Given the description of an element on the screen output the (x, y) to click on. 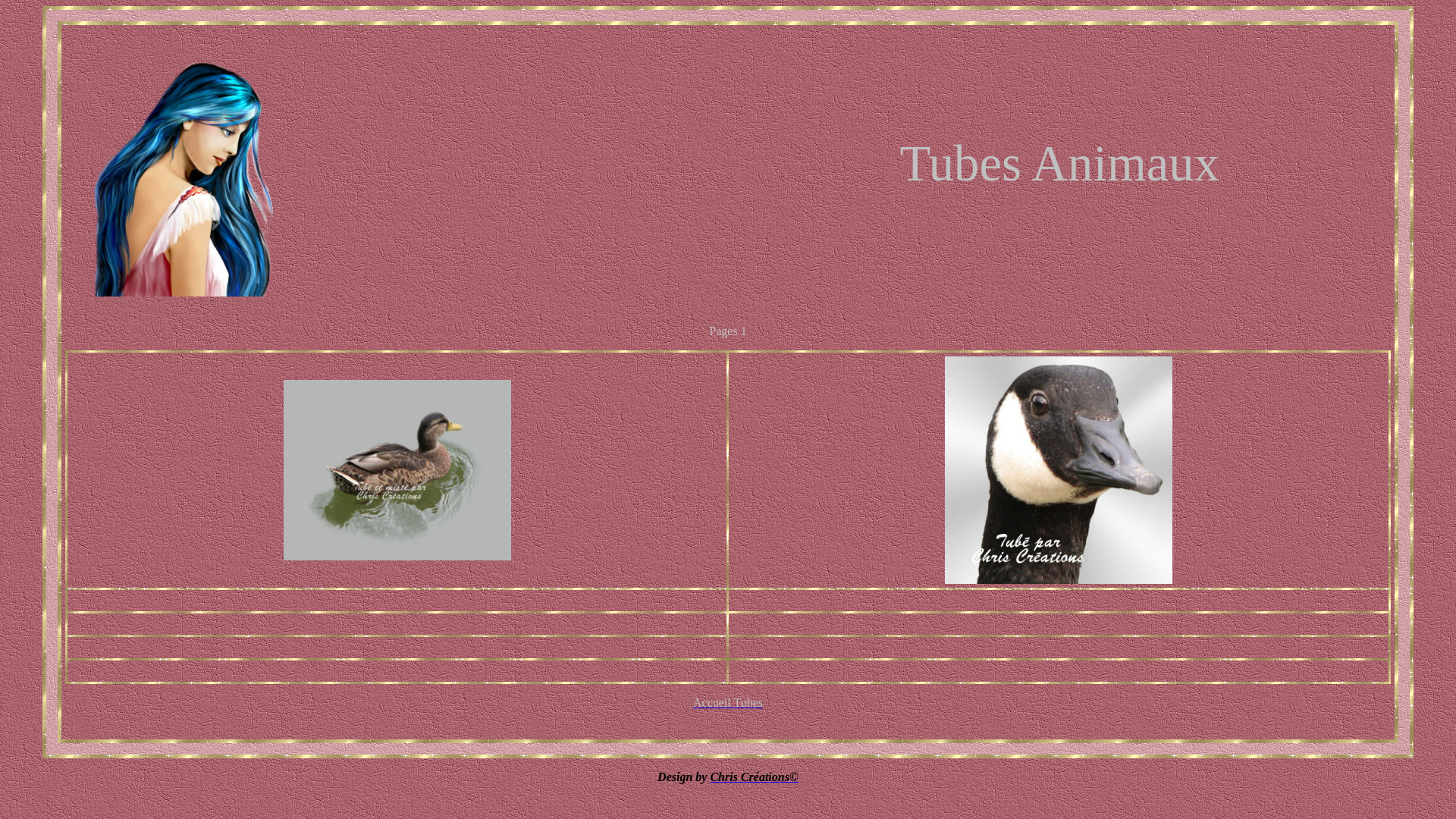
Accueil Tubes Element type: text (727, 702)
